Given the description of an element on the screen output the (x, y) to click on. 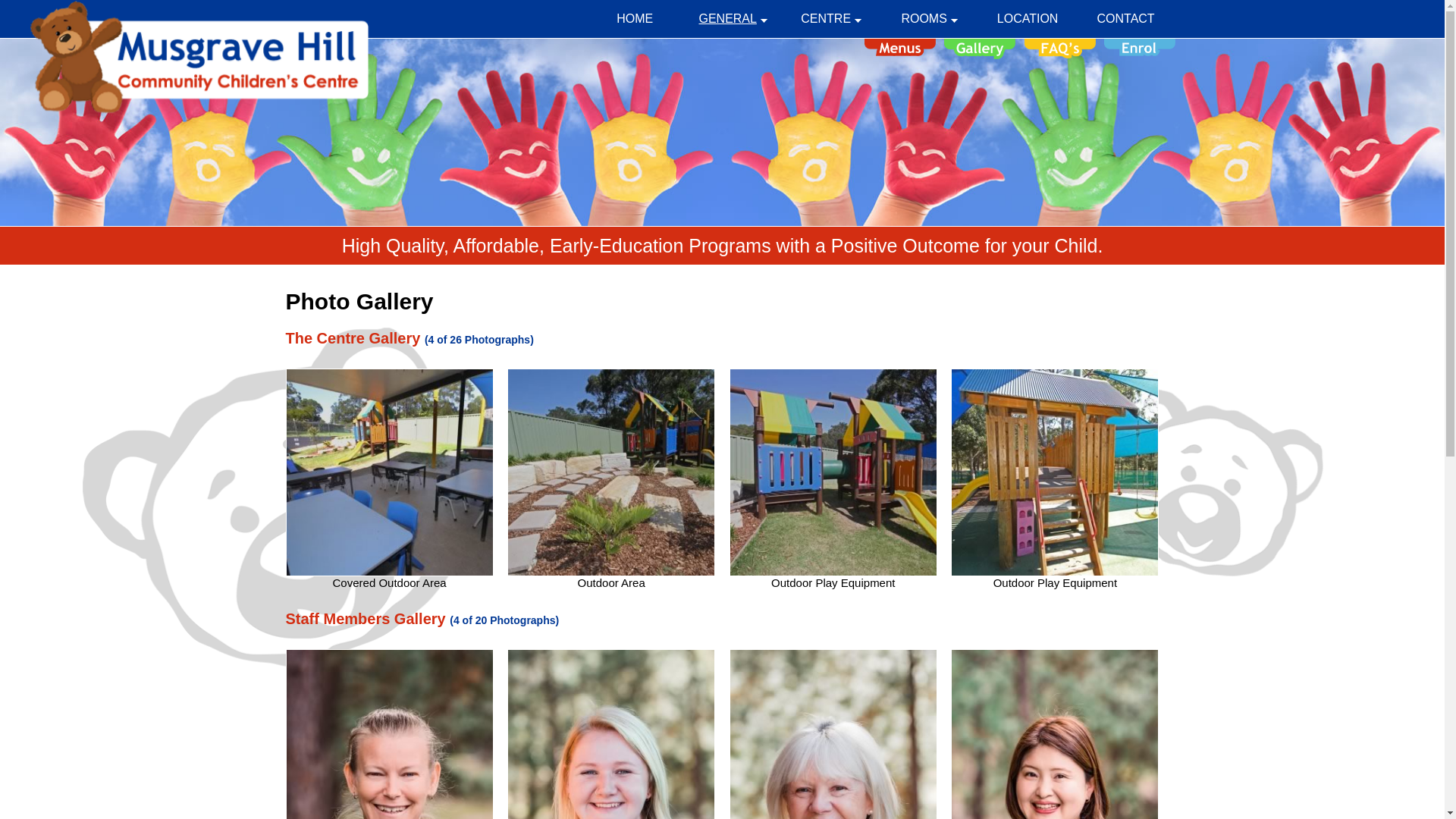
GENERAL Element type: text (732, 18)
The Centre Gallery Element type: text (352, 337)
Staff Members Gallery Element type: text (365, 618)
ROOMS Element type: text (929, 18)
CENTRE Element type: text (830, 18)
CONTACT Element type: text (1125, 18)
HOME Element type: text (634, 18)
LOCATION Element type: text (1027, 18)
